Given the description of an element on the screen output the (x, y) to click on. 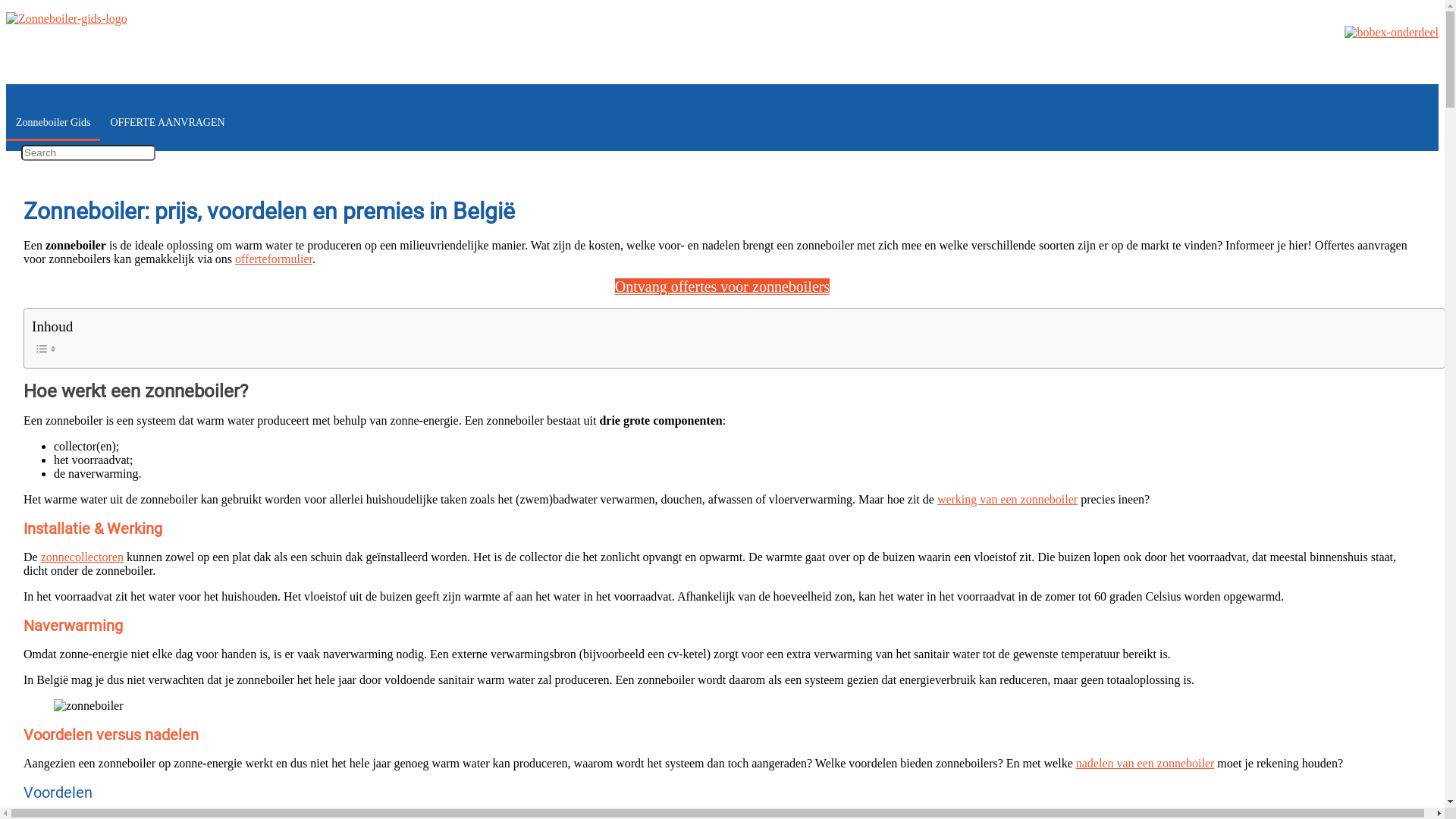
Ontvang offertes voor zonneboilers Element type: text (722, 286)
zonnecollectoren Element type: text (81, 556)
offerteformulier Element type: text (273, 258)
OFFERTE AANVRAGEN Element type: text (167, 122)
nadelen van een zonneboiler Element type: text (1145, 762)
Zonneboiler Gids Element type: text (53, 122)
werking van een zonneboiler Element type: text (1007, 498)
